Given the description of an element on the screen output the (x, y) to click on. 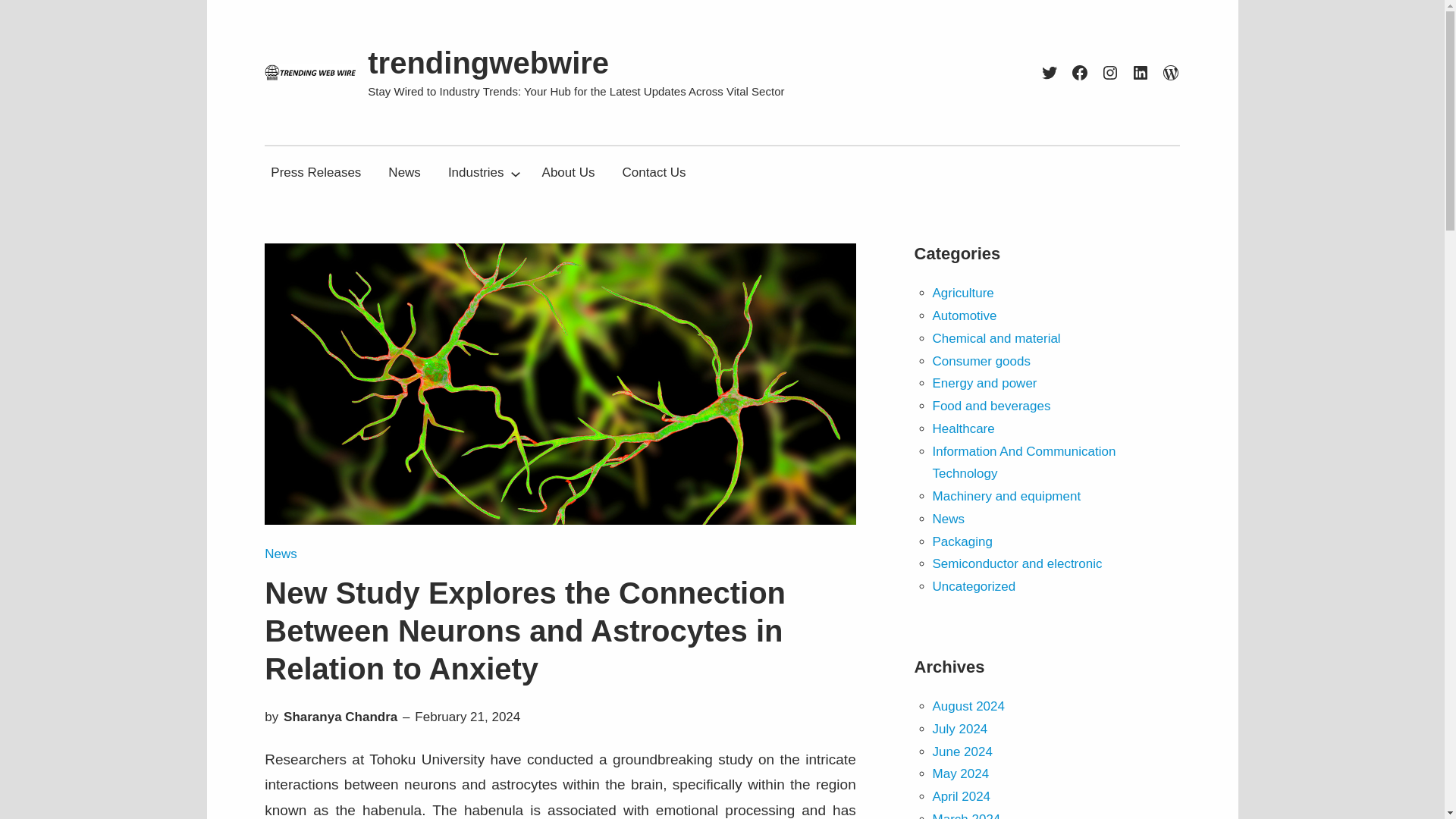
About Us (568, 172)
Contact Us (654, 172)
Press Releases (315, 172)
WordPress (1170, 72)
Facebook (1079, 72)
Instagram (1109, 72)
February 21, 2024 (466, 716)
Twitter (1049, 72)
News (280, 554)
Industries (476, 172)
trendingwebwire (488, 62)
LinkedIn (1140, 72)
